Given the description of an element on the screen output the (x, y) to click on. 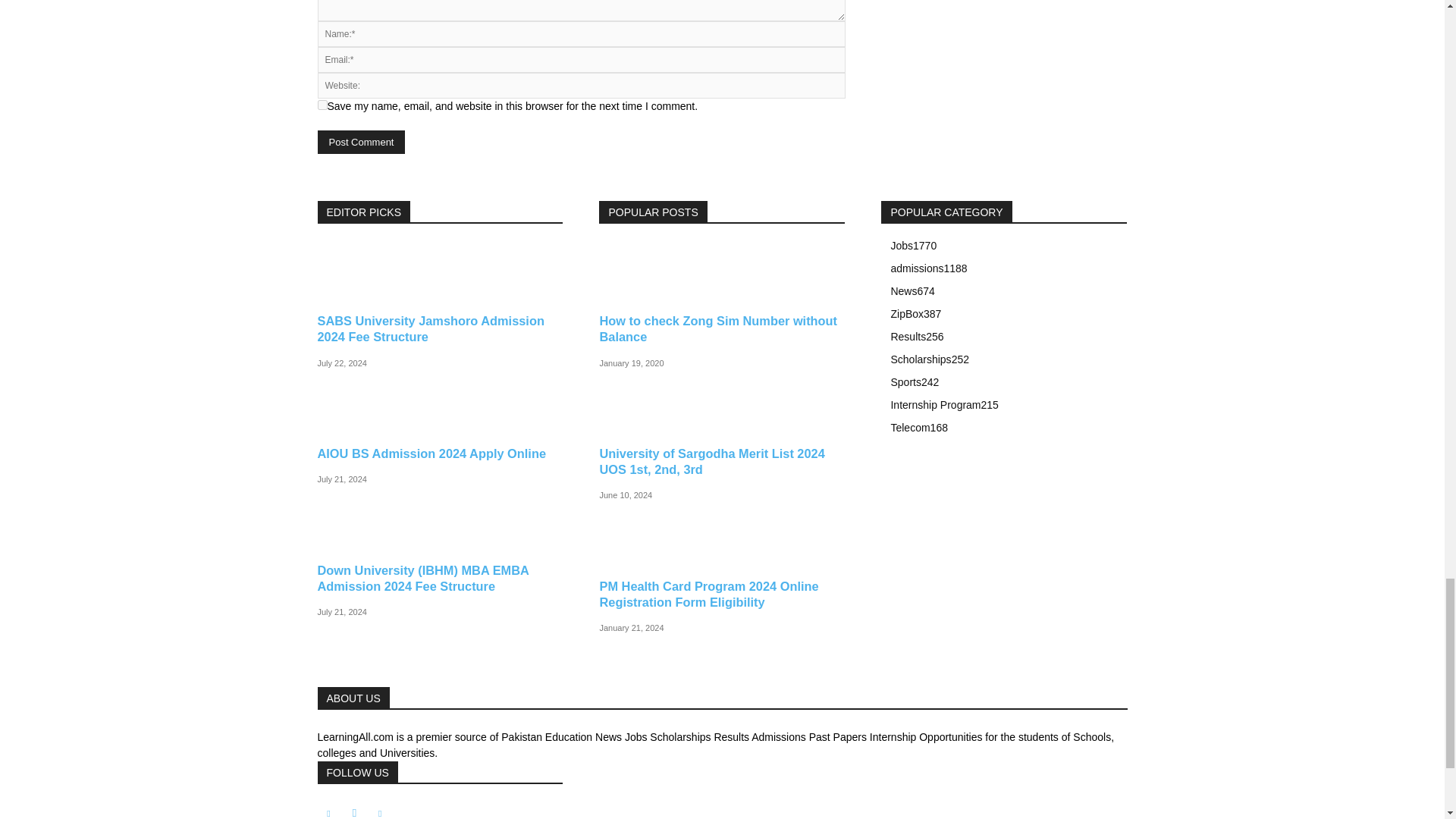
Post Comment (360, 141)
yes (321, 104)
